Given the description of an element on the screen output the (x, y) to click on. 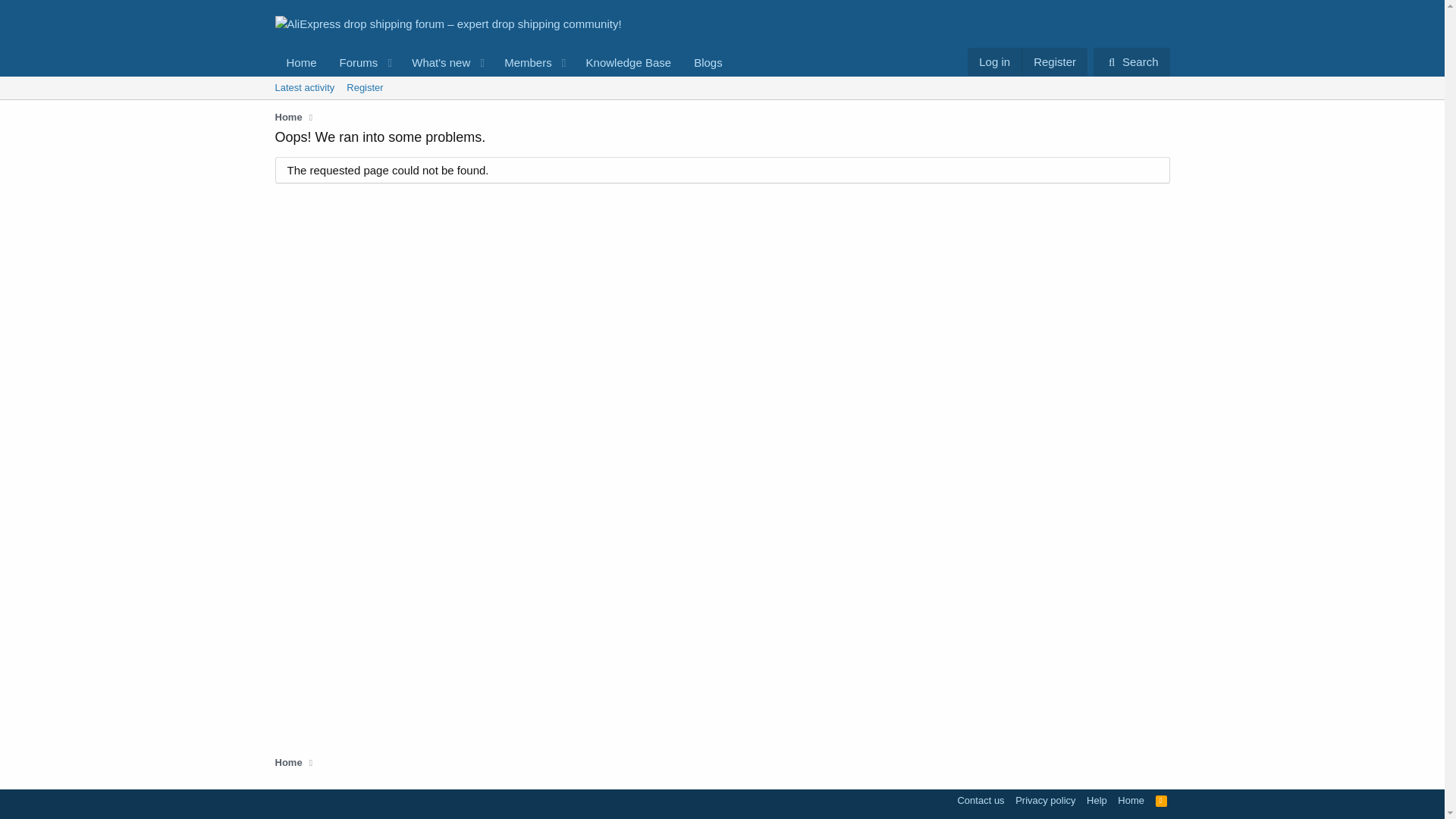
Register (364, 87)
Register (1054, 61)
Forums (354, 62)
RSS (1161, 800)
Blogs (707, 62)
Contact us (980, 800)
Search (1131, 61)
Help (1096, 800)
RSS (1161, 800)
What's new (435, 62)
